Given the description of an element on the screen output the (x, y) to click on. 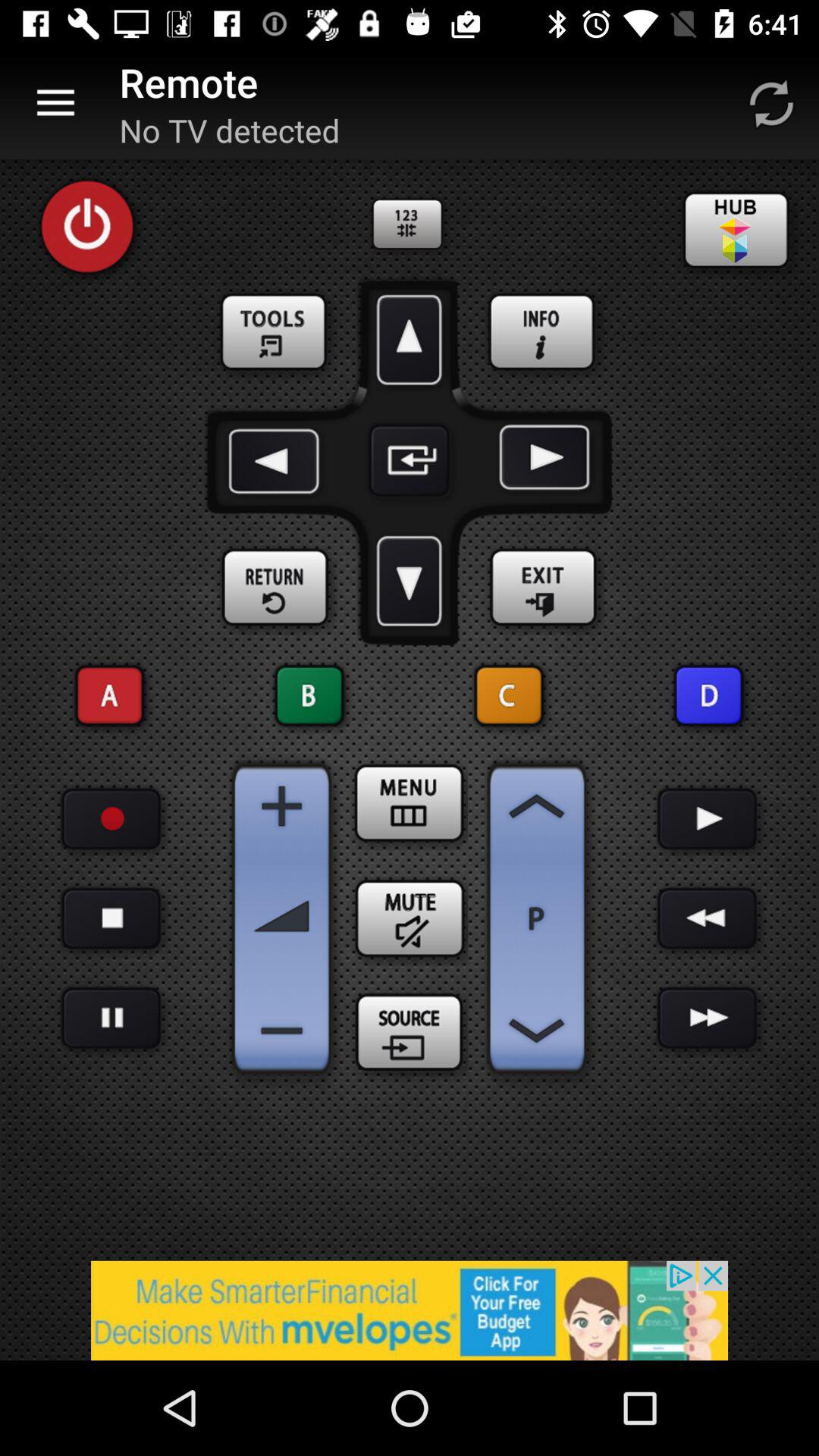
play the audio (707, 819)
